Given the description of an element on the screen output the (x, y) to click on. 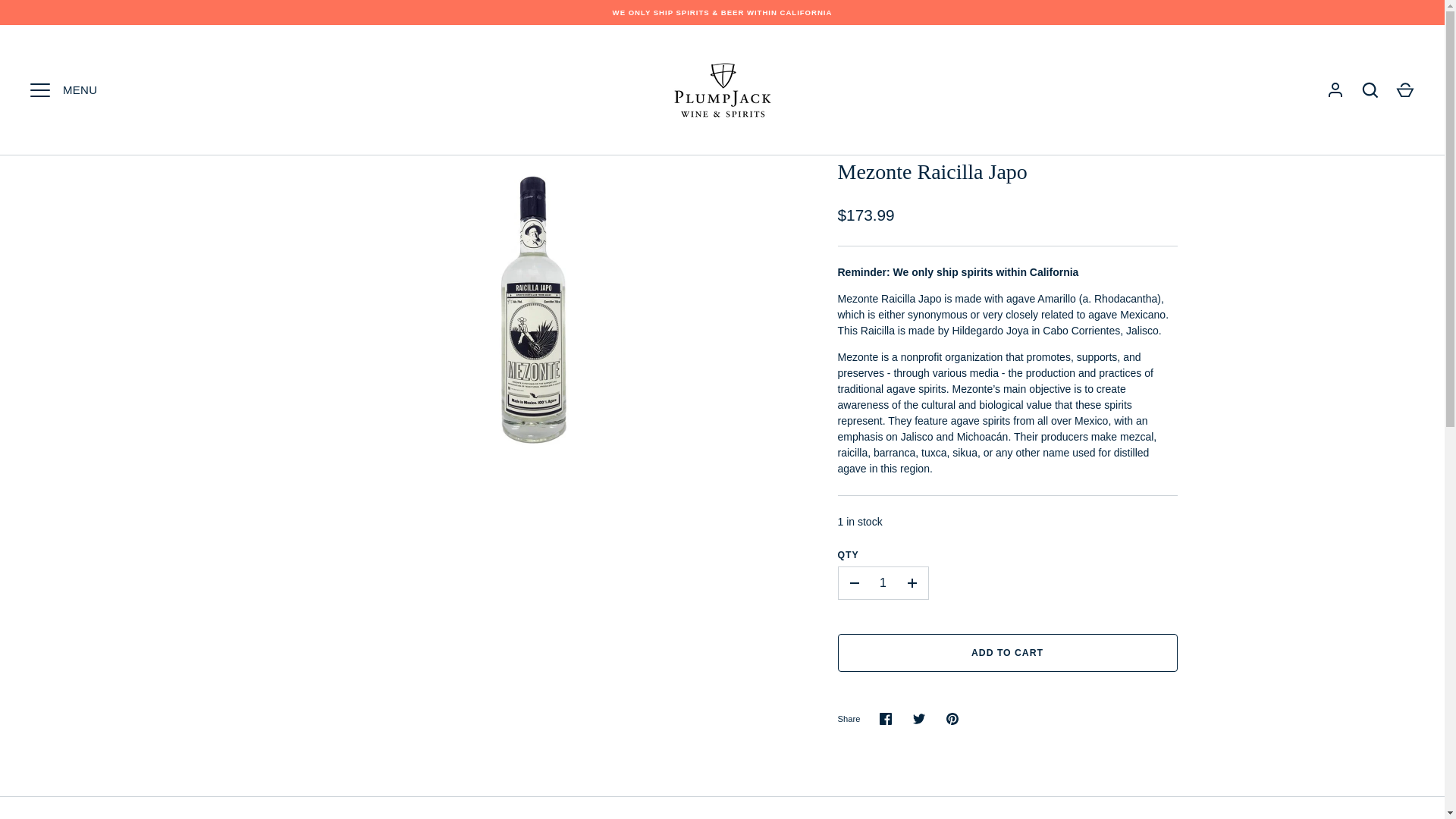
1 (883, 582)
